Given the description of an element on the screen output the (x, y) to click on. 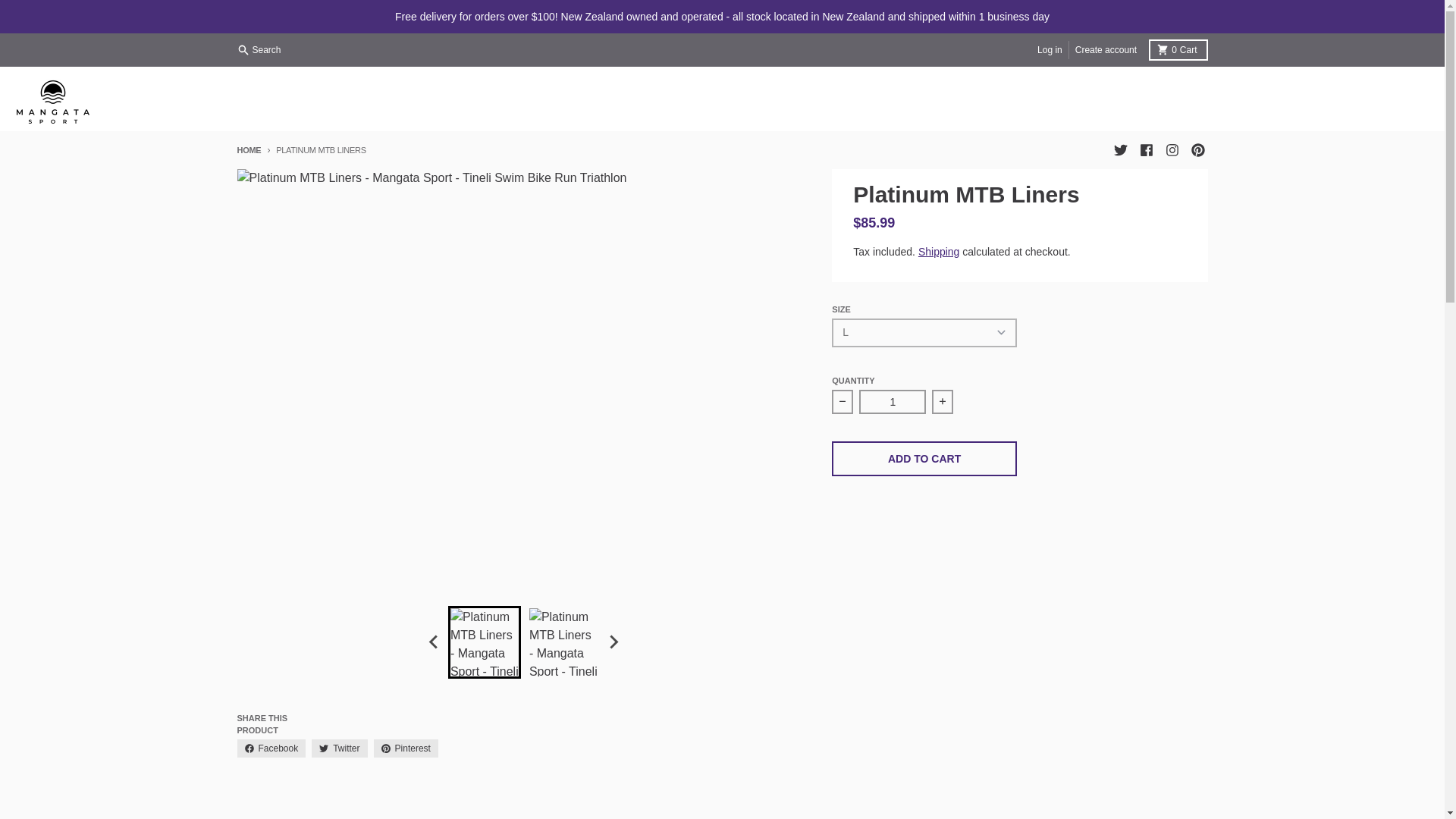
Back to the homepage (247, 149)
Search (259, 49)
Log in (1049, 49)
Instagram - Mangata Sport (1170, 149)
Facebook - Mangata Sport (1145, 149)
1 (892, 401)
Pinterest - Mangata Sport (1197, 149)
Twitter - Mangata Sport (1119, 149)
Create account (1177, 49)
